Given the description of an element on the screen output the (x, y) to click on. 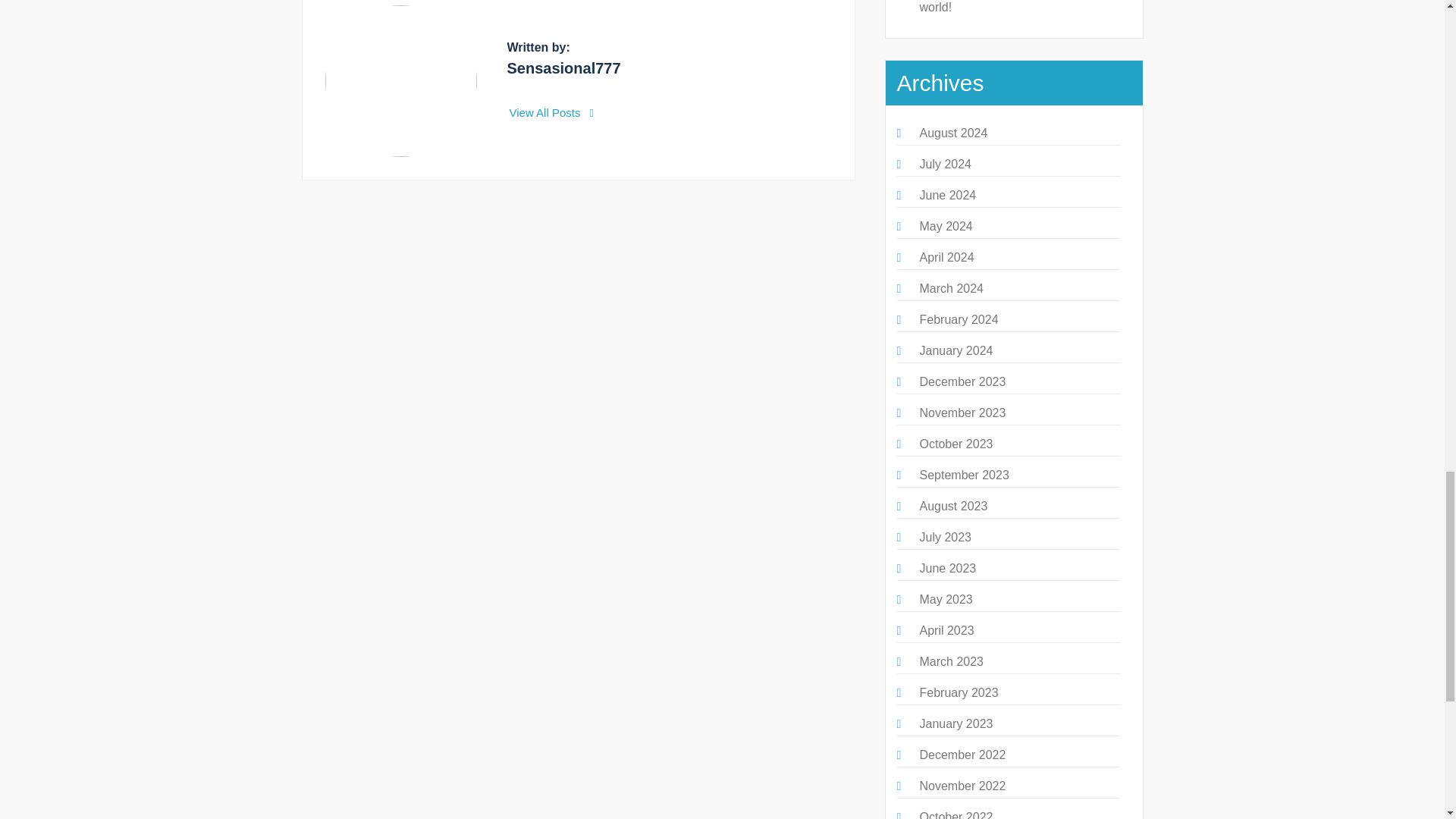
View All Posts (551, 112)
January 2023 (955, 723)
June 2023 (946, 567)
January 2024 (955, 350)
Hello world! (1010, 6)
May 2023 (945, 599)
October 2023 (955, 443)
June 2024 (946, 195)
April 2024 (946, 256)
December 2023 (962, 381)
